Given the description of an element on the screen output the (x, y) to click on. 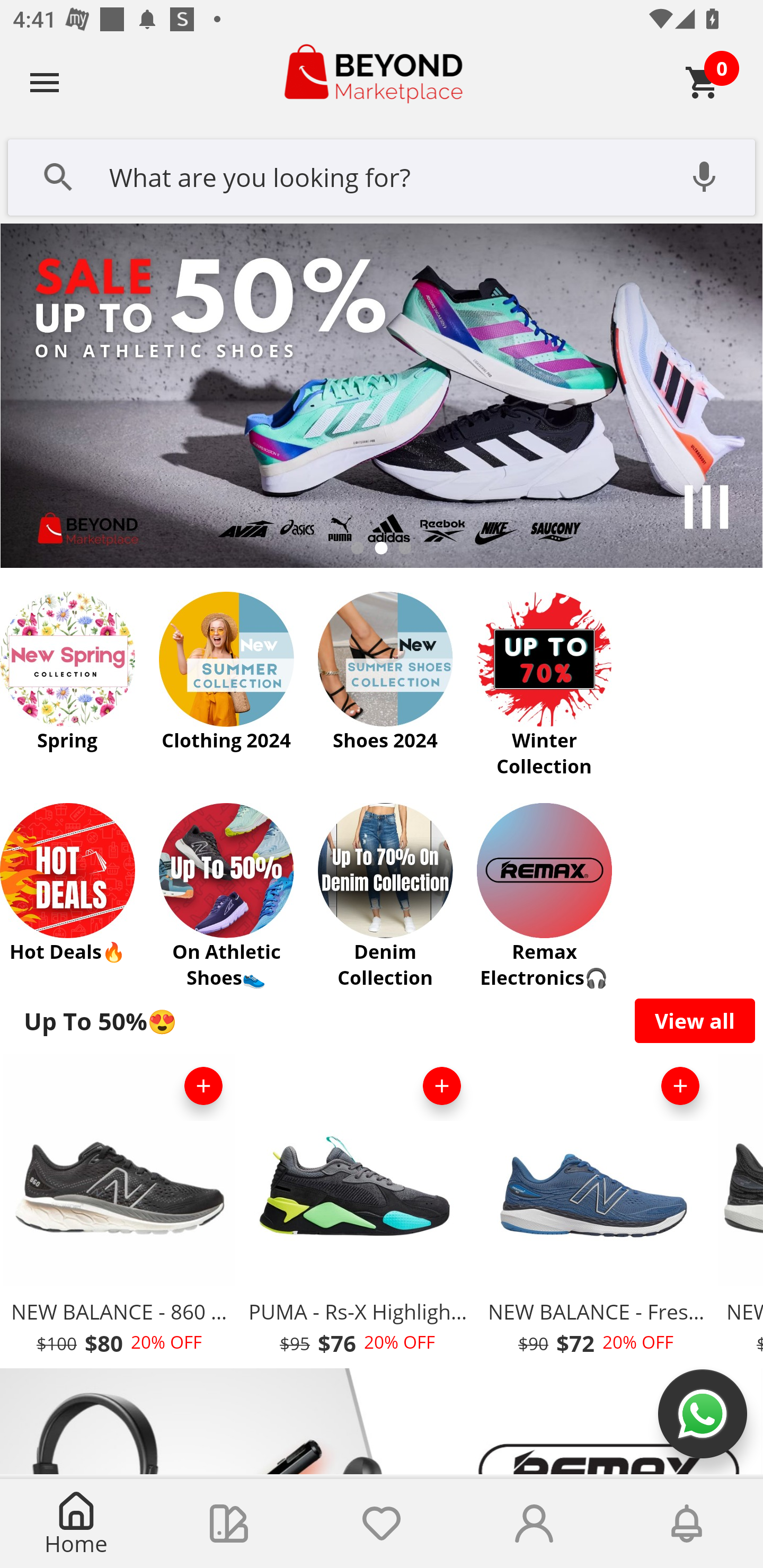
Navigate up (44, 82)
What are you looking for? (381, 175)
View all (694, 1020)
NEW BALANCE - 860 Running Shoes $100 $80 20% OFF (119, 1209)
Collections (228, 1523)
Wishlist (381, 1523)
Account (533, 1523)
Notifications (686, 1523)
